Given the description of an element on the screen output the (x, y) to click on. 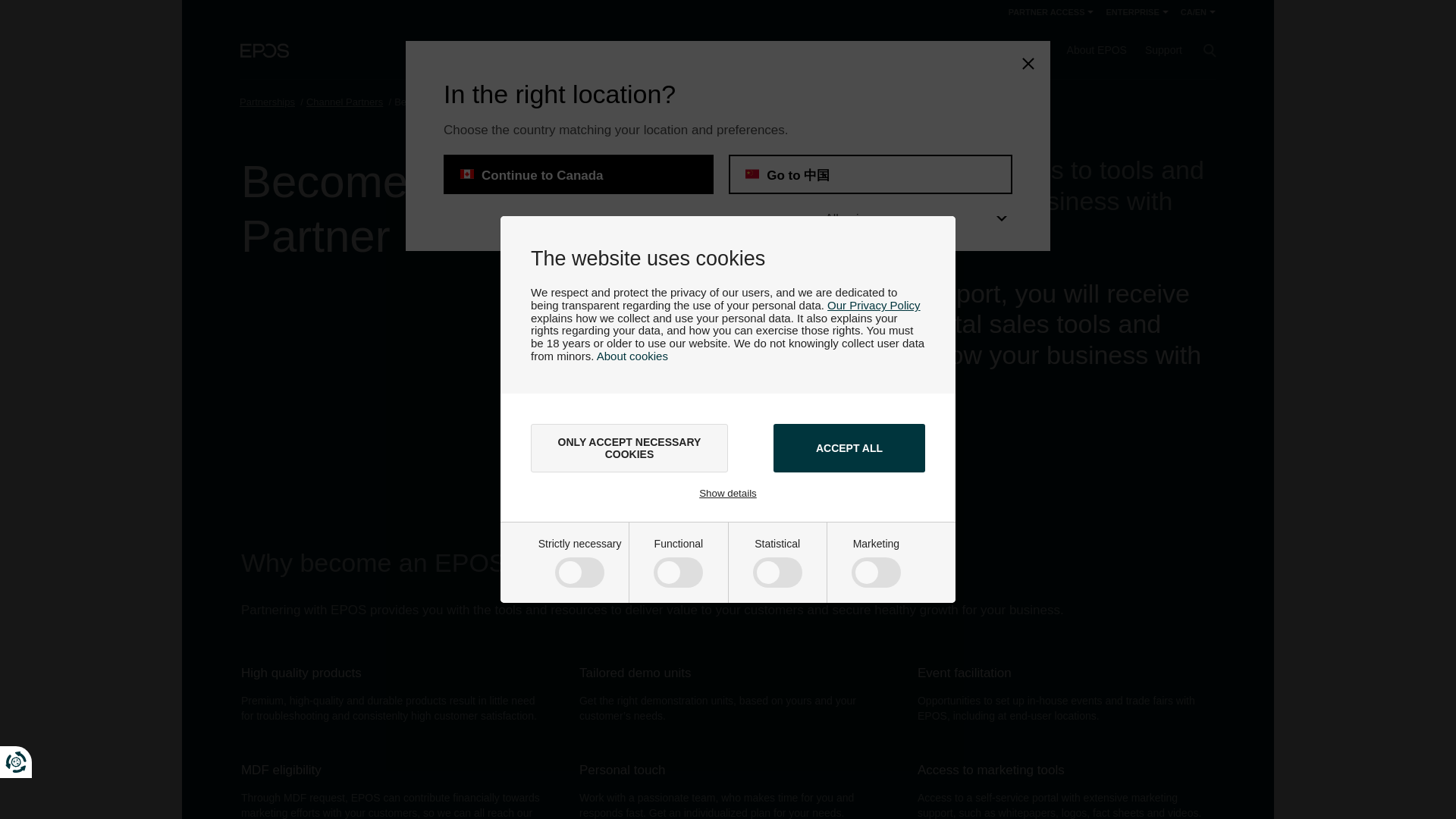
Show details (727, 492)
ACCEPT ALL (848, 448)
ONLY ACCEPT NECESSARY COOKIES (629, 448)
About cookies (632, 355)
Our Privacy Policy (873, 305)
